Given the description of an element on the screen output the (x, y) to click on. 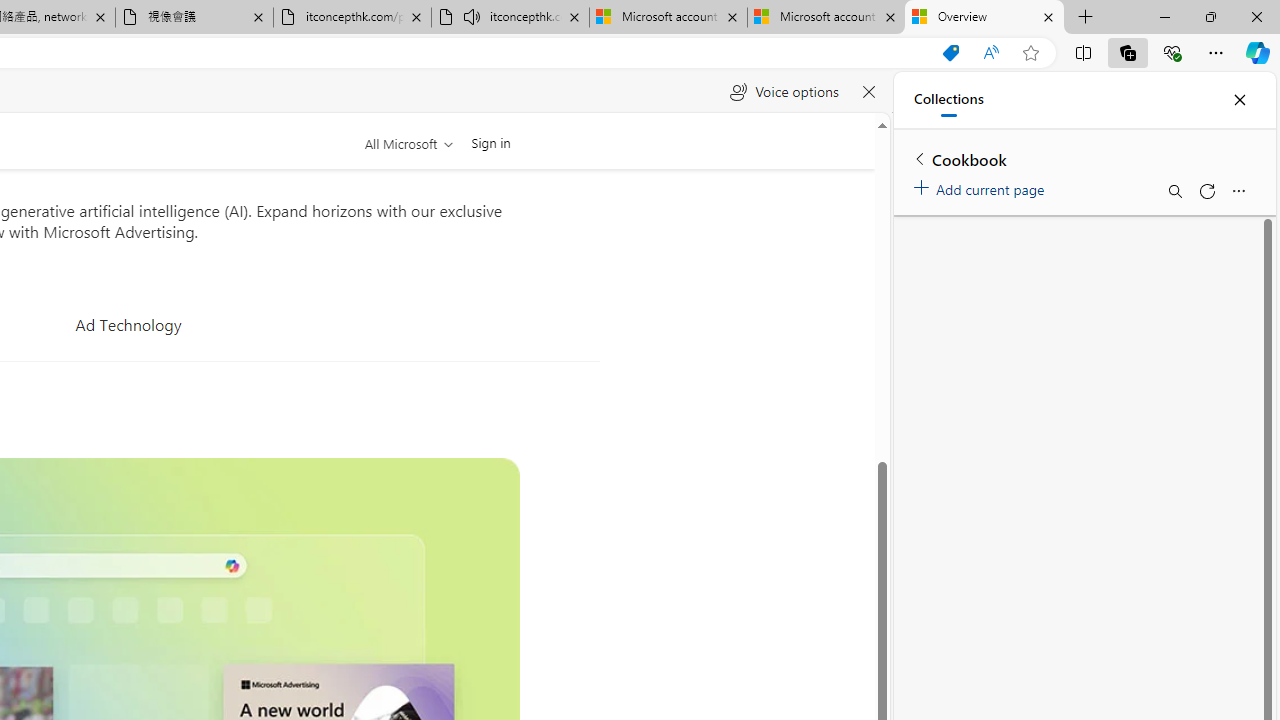
Voice options (783, 92)
Mute tab (471, 16)
Add current page (982, 186)
itconcepthk.com/projector_solutions.mp4 - Audio playing (509, 17)
